Given the description of an element on the screen output the (x, y) to click on. 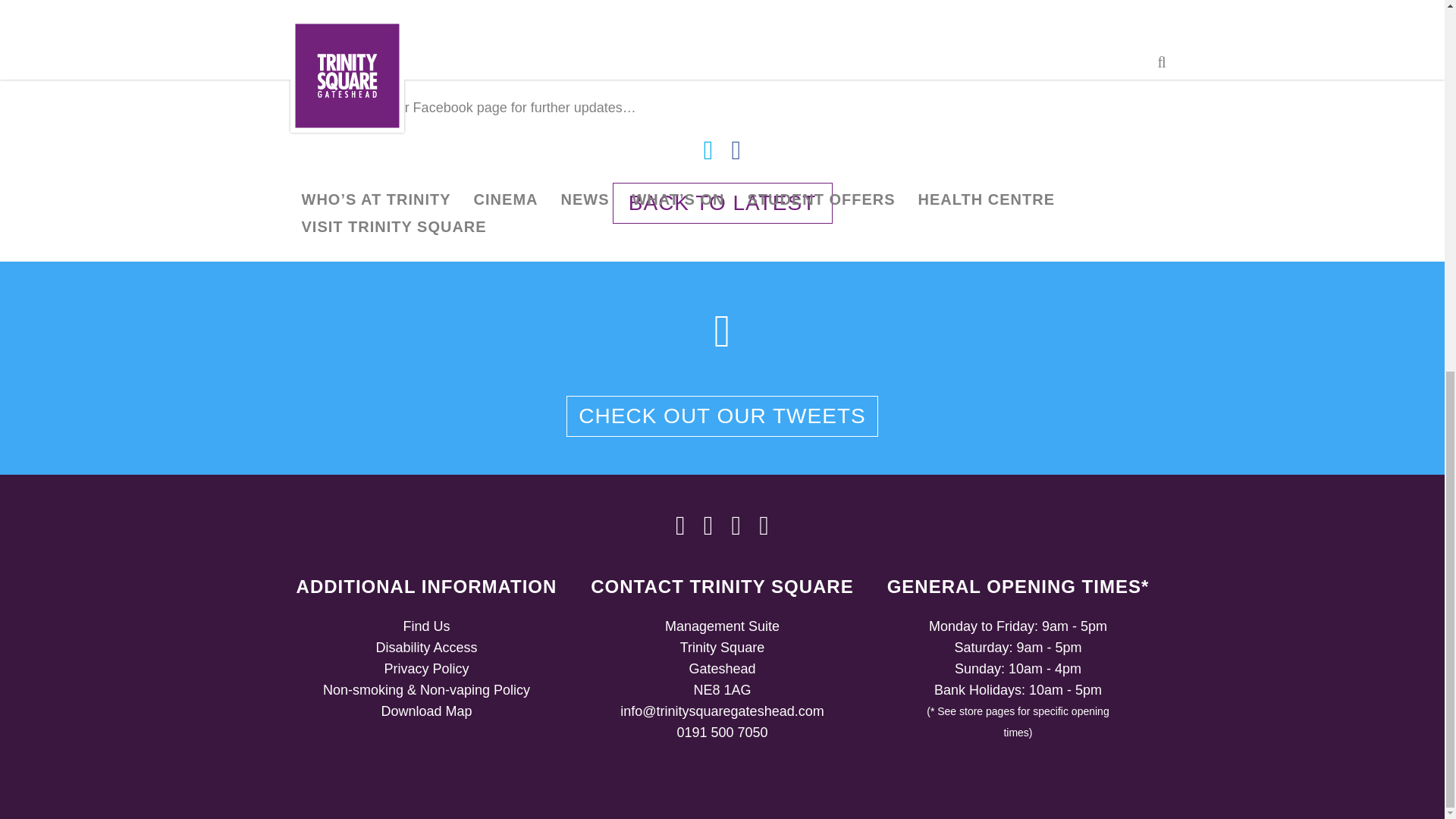
Find Us (426, 626)
Disability Access (426, 647)
Privacy Policy (426, 668)
0191 500 7050 (722, 732)
Find Us (426, 626)
BACK TO LATEST (722, 202)
Privacy Policy (426, 668)
Disability Access (426, 647)
CHECK OUT OUR TWEETS (721, 415)
Download Map (425, 711)
